Given the description of an element on the screen output the (x, y) to click on. 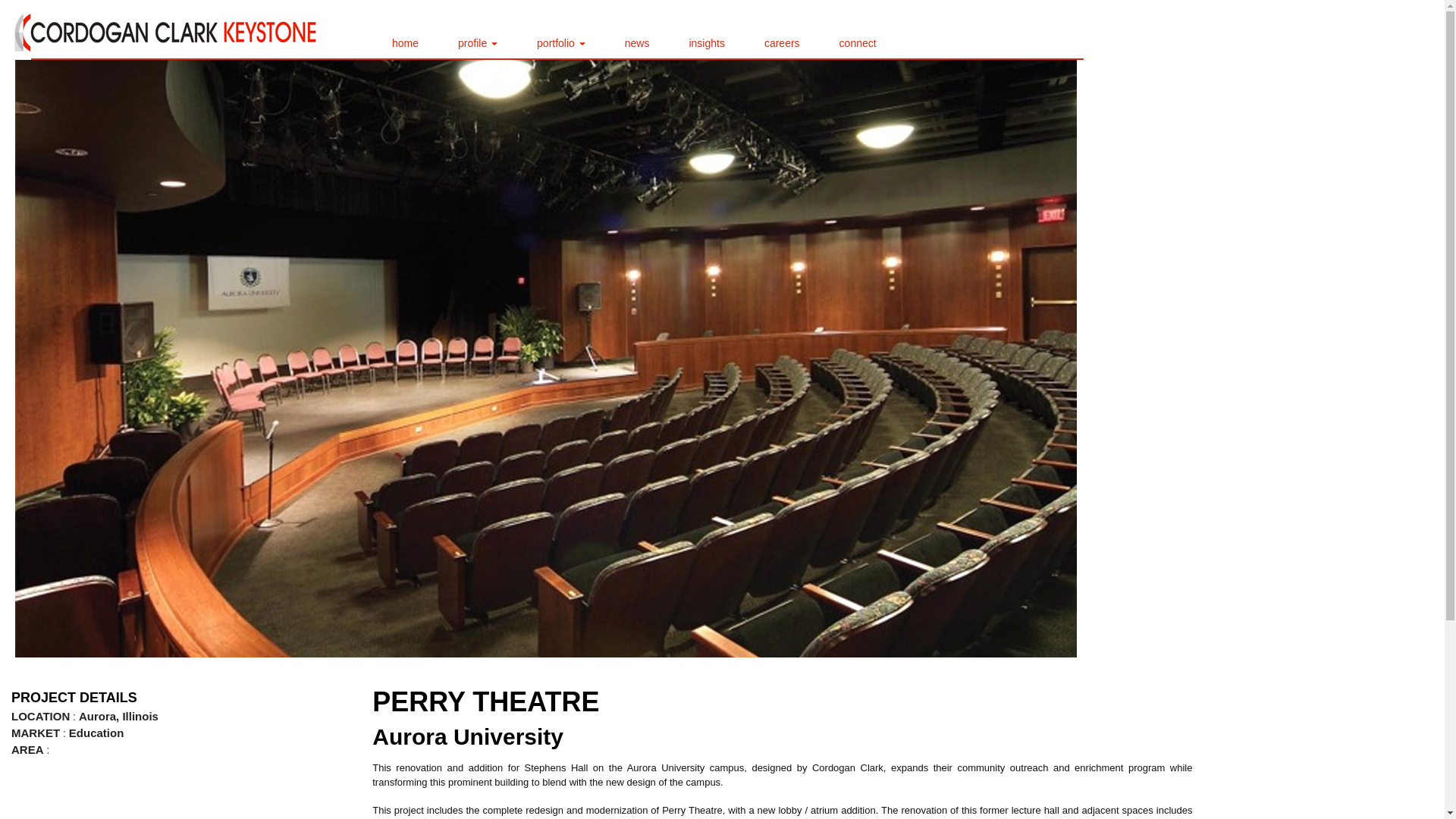
portfolio (560, 42)
careers (782, 42)
news (637, 42)
home (405, 42)
profile (477, 42)
connect (857, 42)
insights (706, 42)
